Given the description of an element on the screen output the (x, y) to click on. 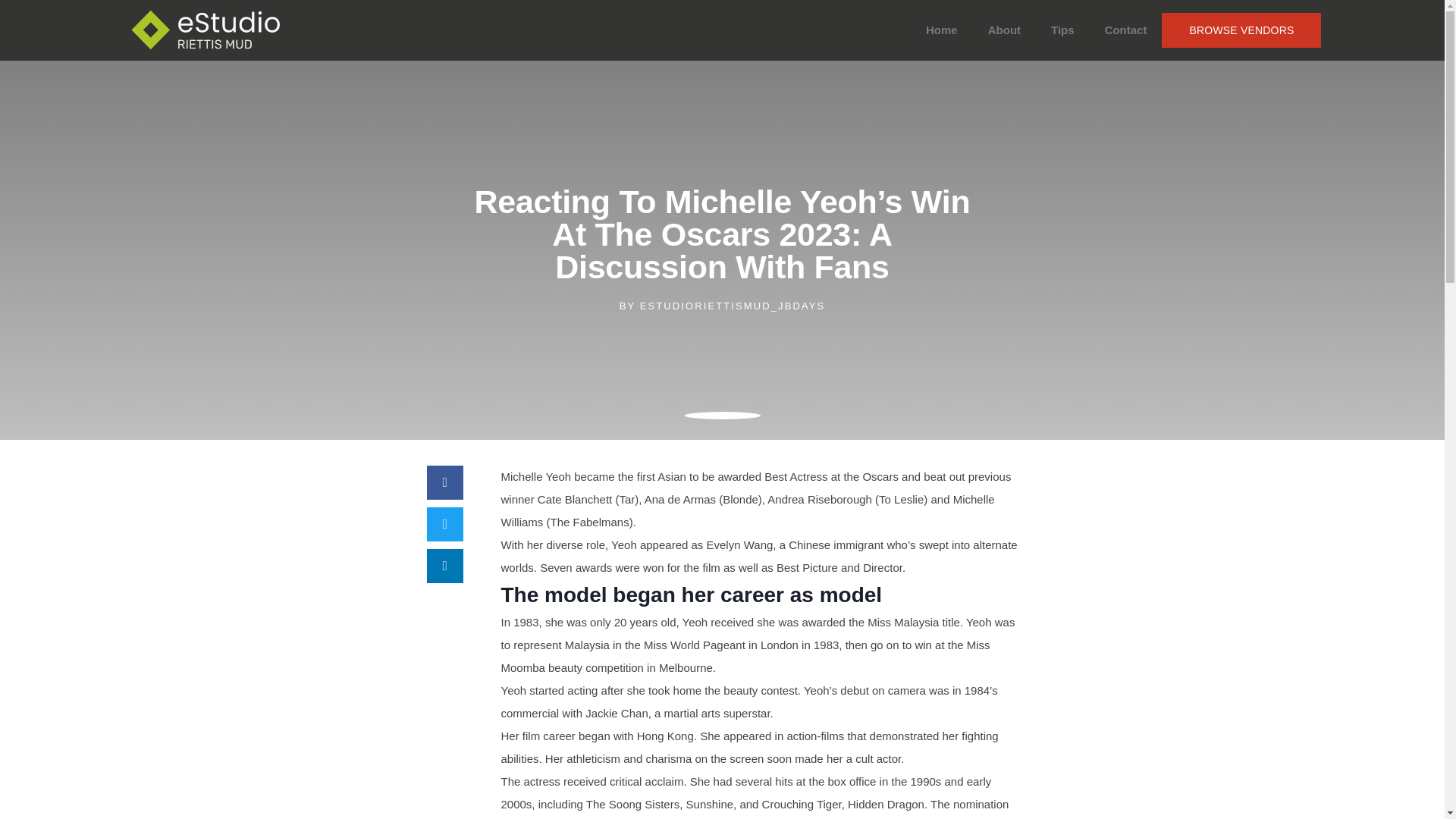
Home (941, 30)
About (1003, 30)
BROWSE VENDORS (1240, 30)
Contact (1125, 30)
Tips (1062, 30)
